Given the description of an element on the screen output the (x, y) to click on. 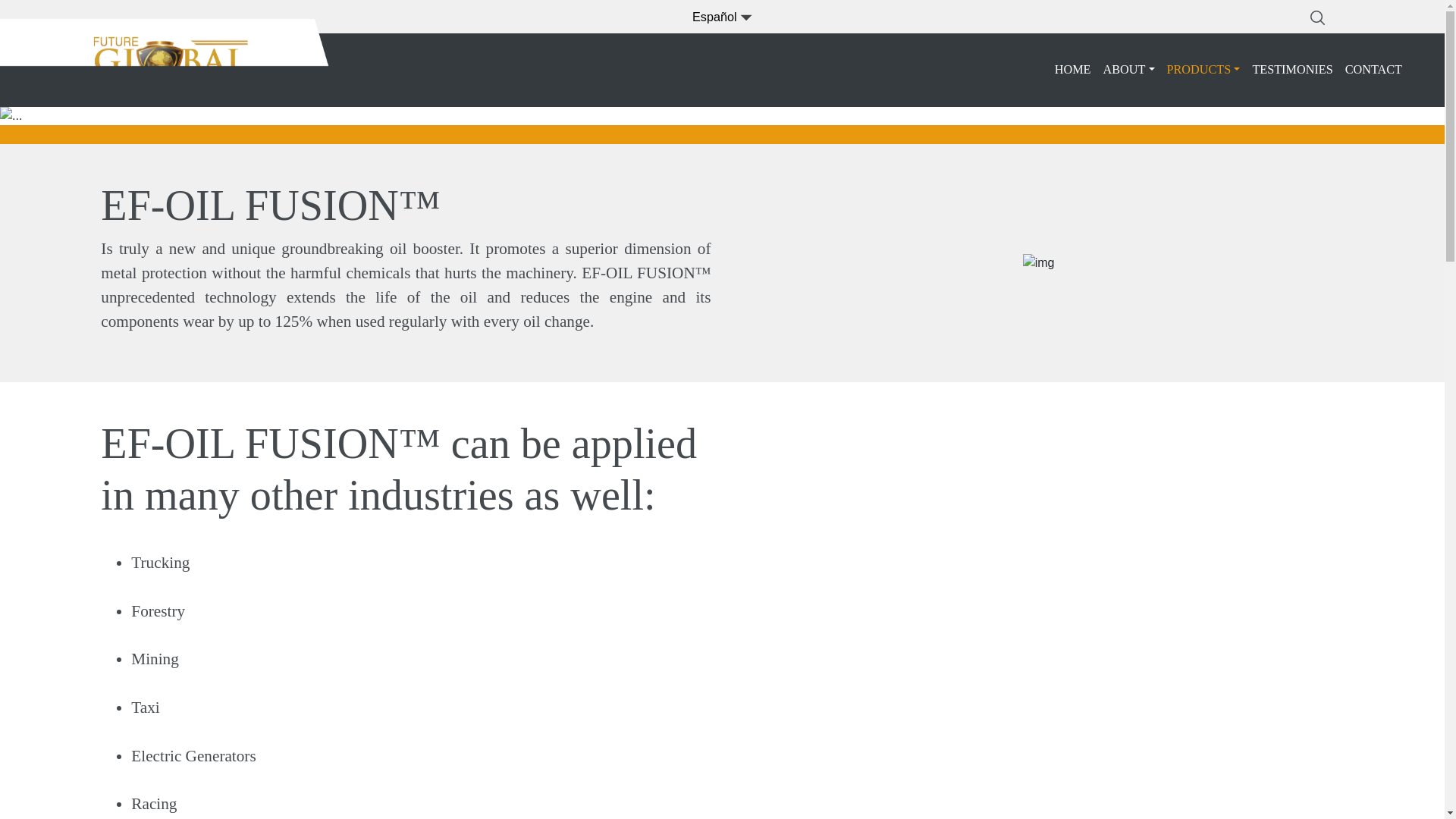
CONTACT (1373, 69)
TESTIMONIES (1292, 69)
ABOUT (1128, 69)
PRODUCTS (1203, 69)
